Given the description of an element on the screen output the (x, y) to click on. 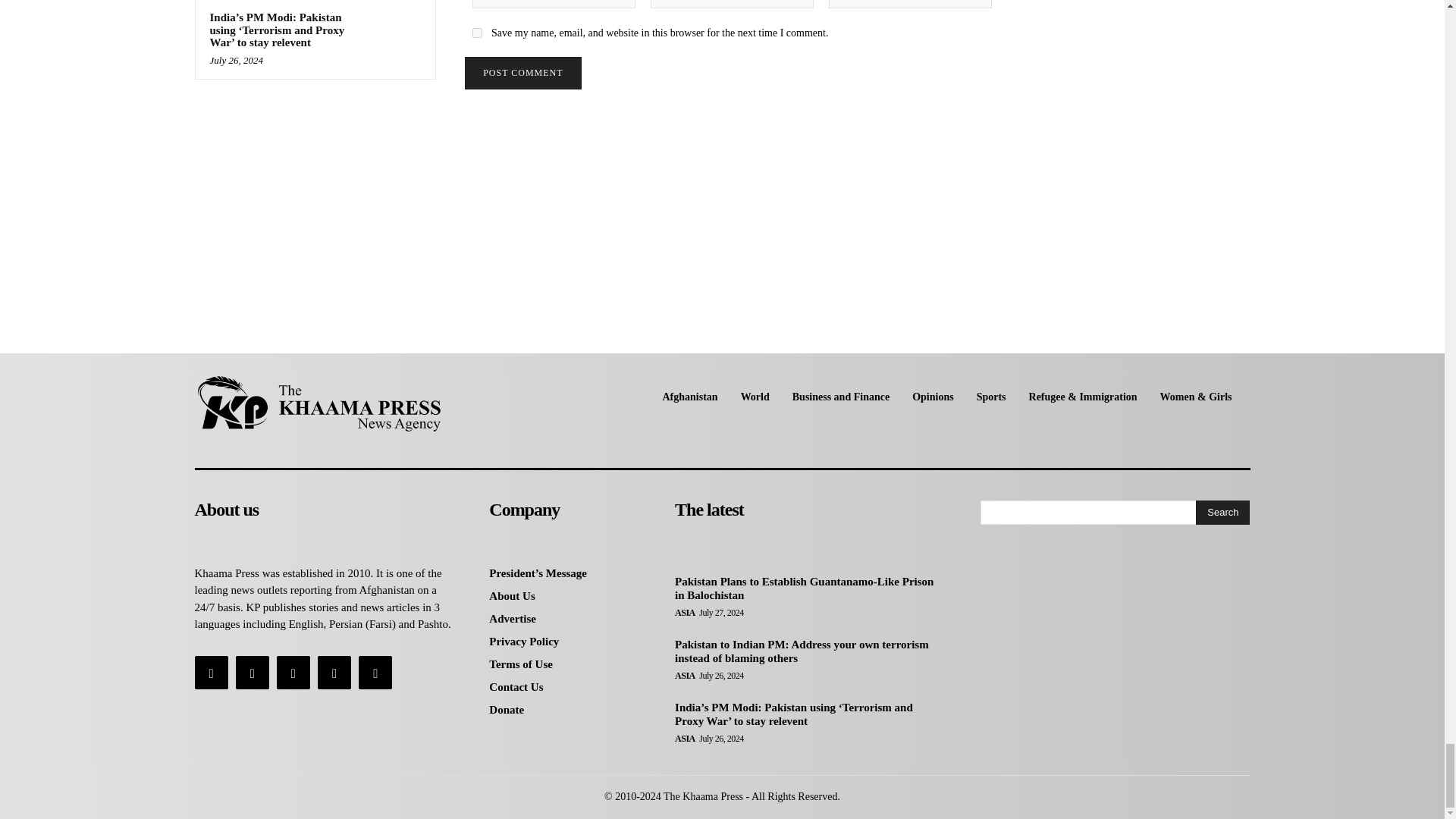
yes (476, 32)
Post Comment (522, 72)
